Given the description of an element on the screen output the (x, y) to click on. 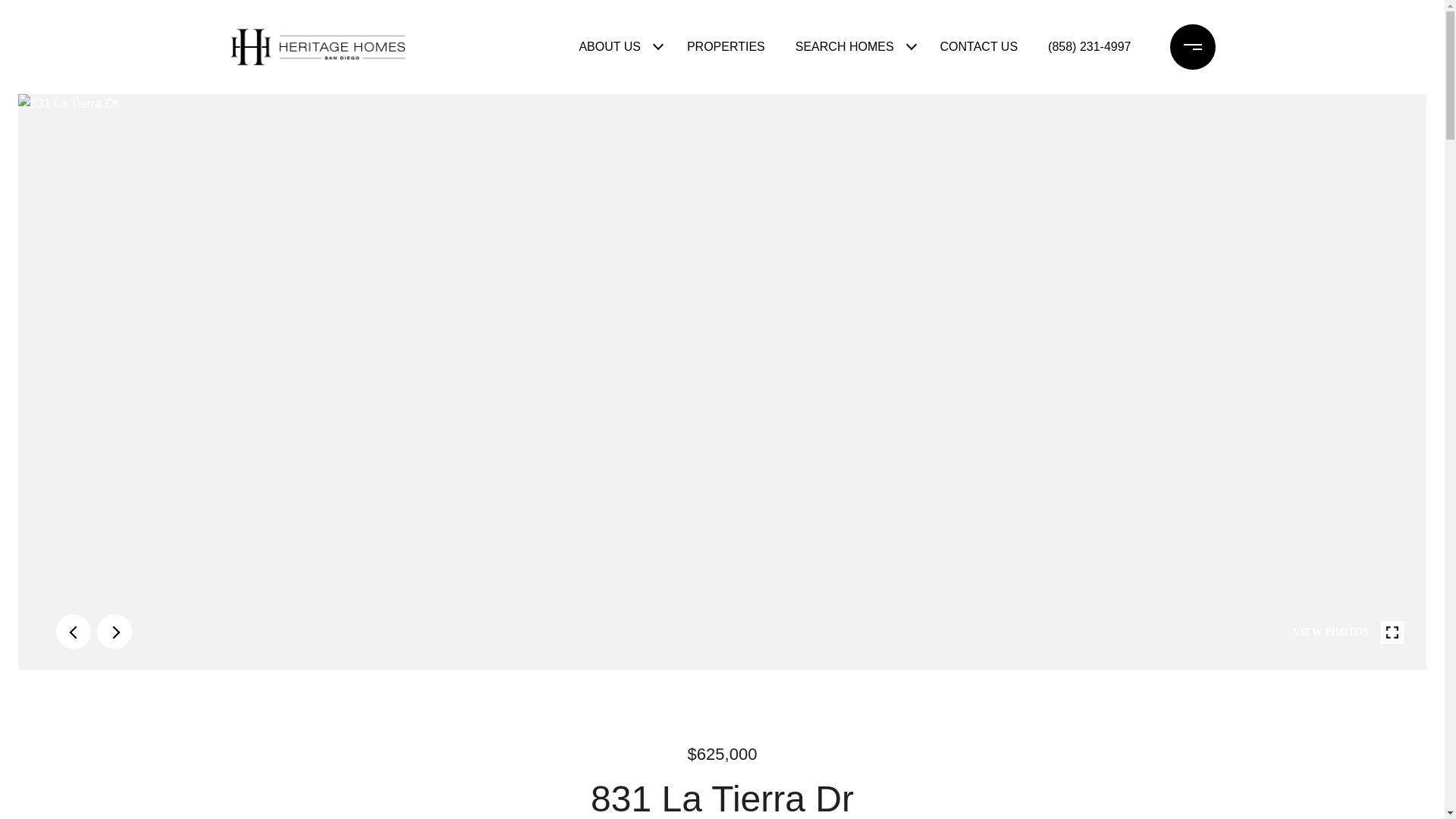
SEARCH HOMES (844, 46)
ABOUT US (608, 46)
PROPERTIES (726, 46)
CONTACT US (979, 46)
